Given the description of an element on the screen output the (x, y) to click on. 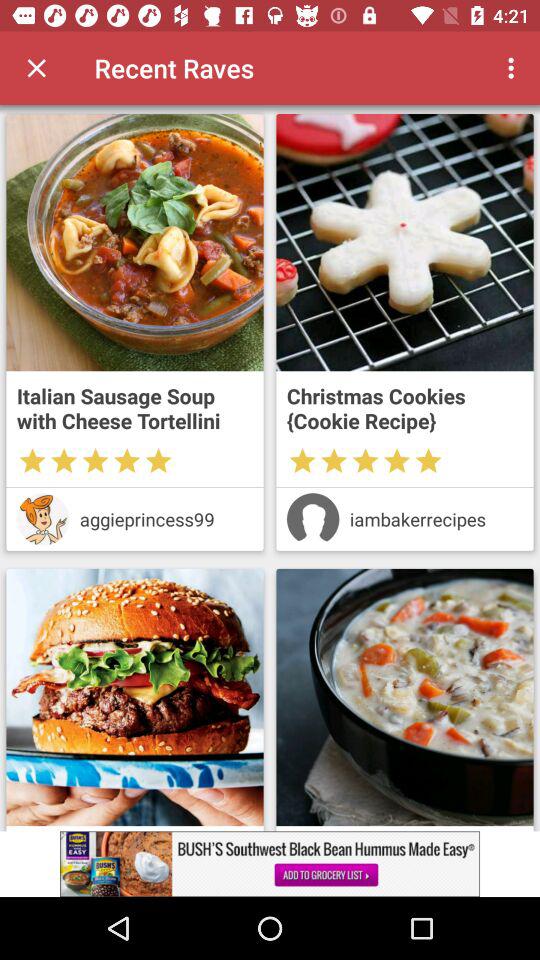
go to recipe (404, 242)
